Given the description of an element on the screen output the (x, y) to click on. 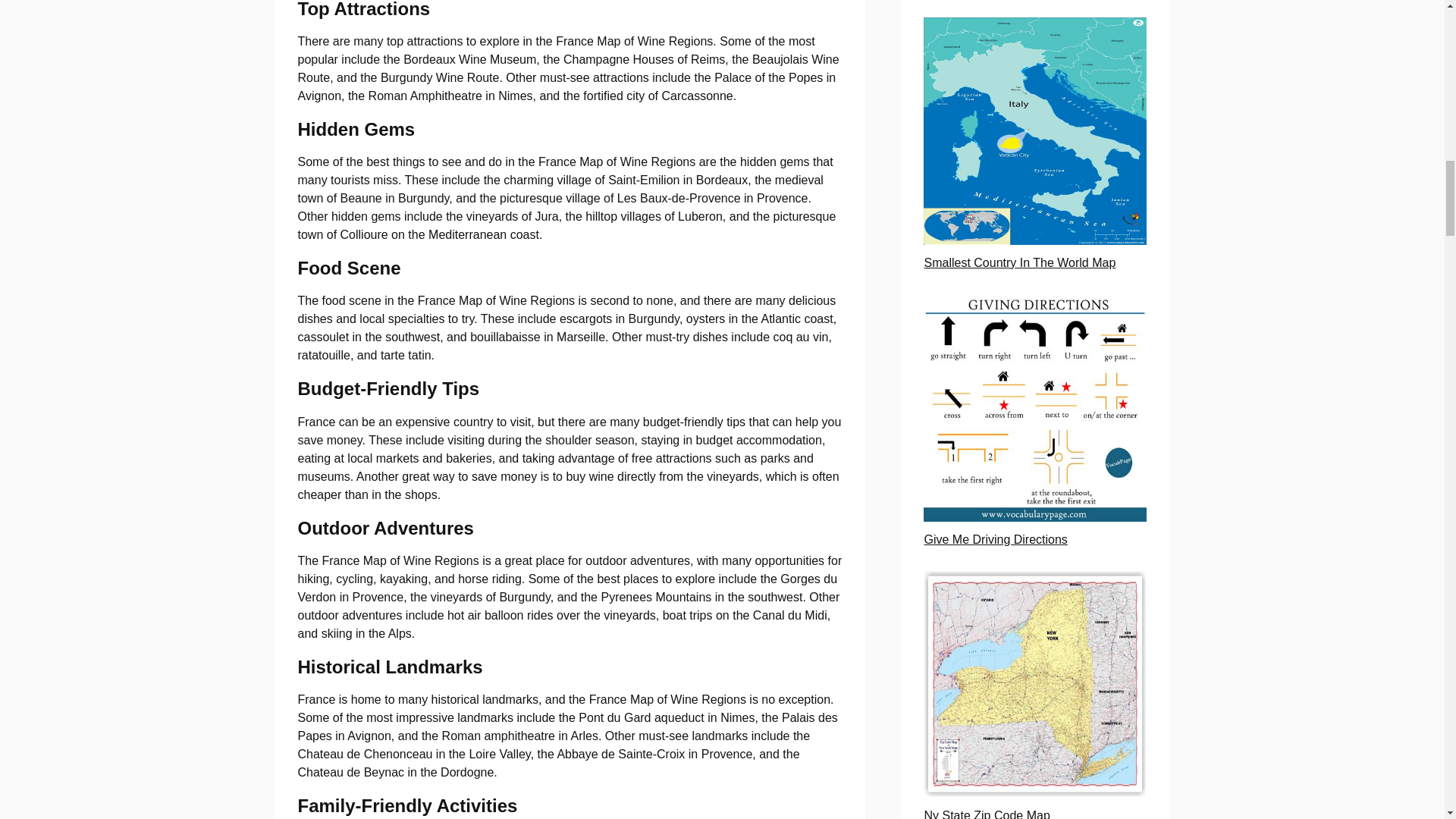
Smallest Country In The World Map (1019, 262)
Give Me Driving Directions (995, 539)
Ny State Zip Code Map (986, 814)
